Given the description of an element on the screen output the (x, y) to click on. 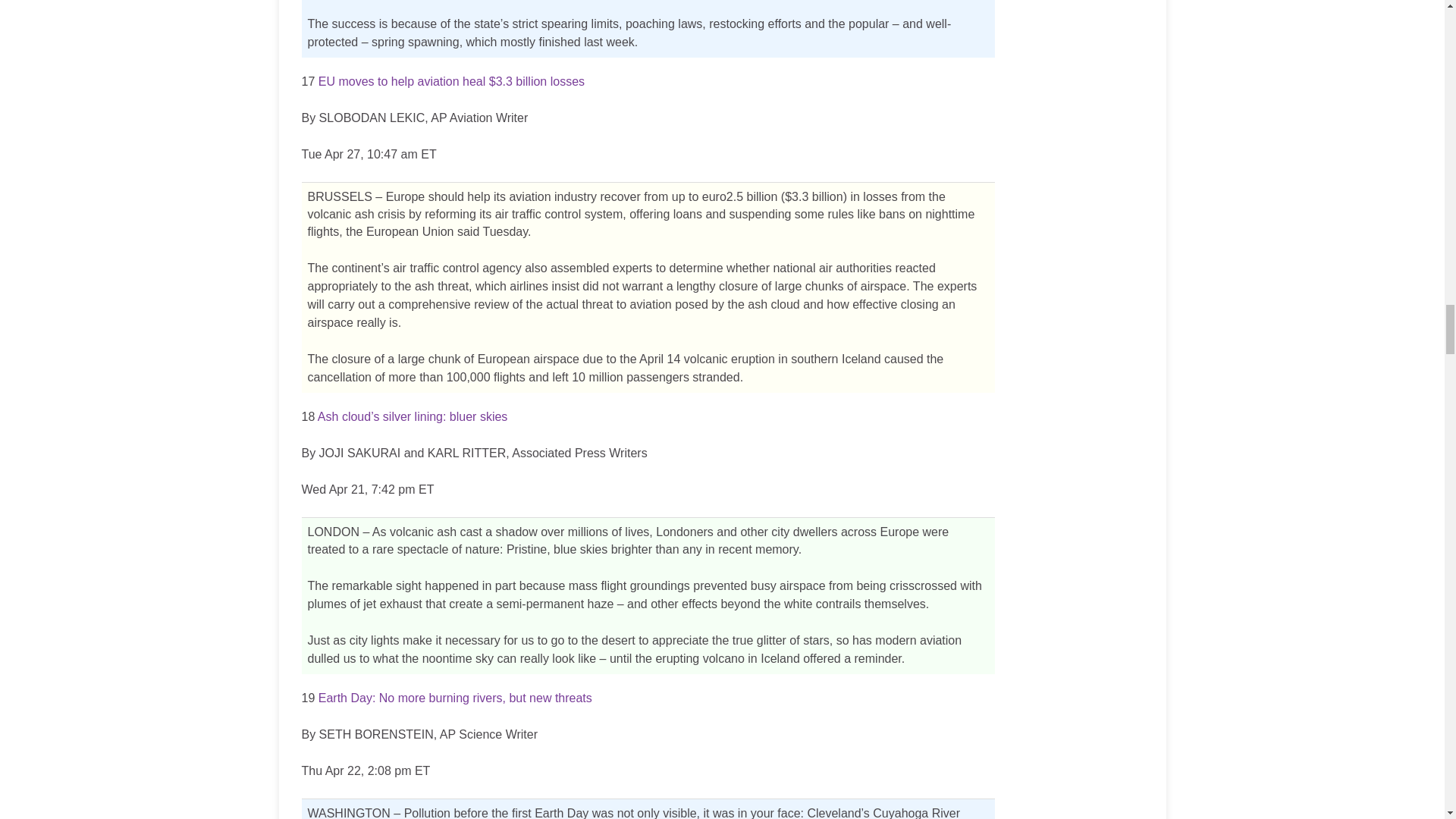
Earth Day: No more burning rivers, but new threats (455, 697)
